Given the description of an element on the screen output the (x, y) to click on. 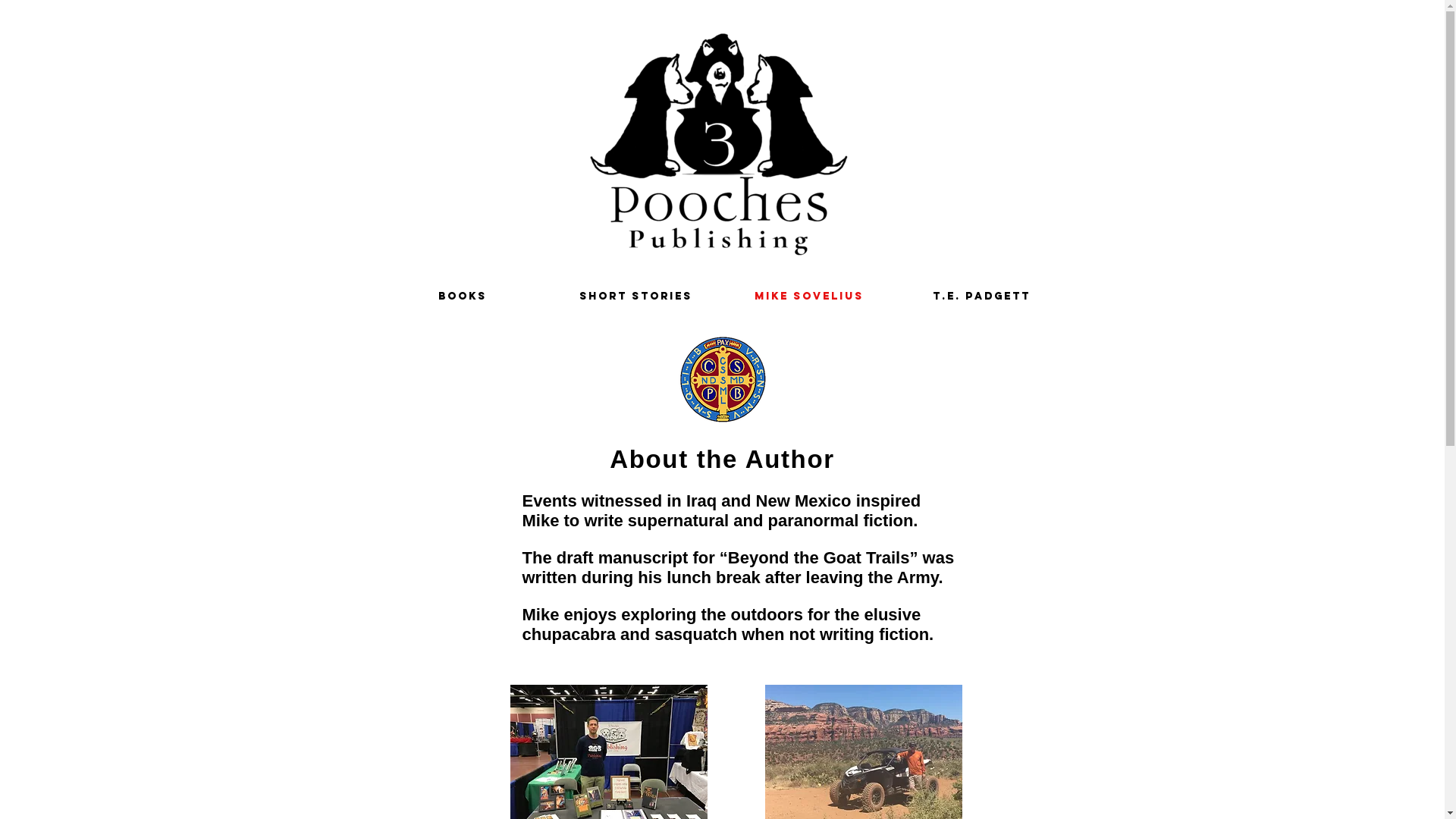
Mike Sovelius Element type: text (807, 296)
Books Element type: text (462, 296)
Short Stories Element type: text (635, 296)
T.E. Padgett Element type: text (980, 296)
